Given the description of an element on the screen output the (x, y) to click on. 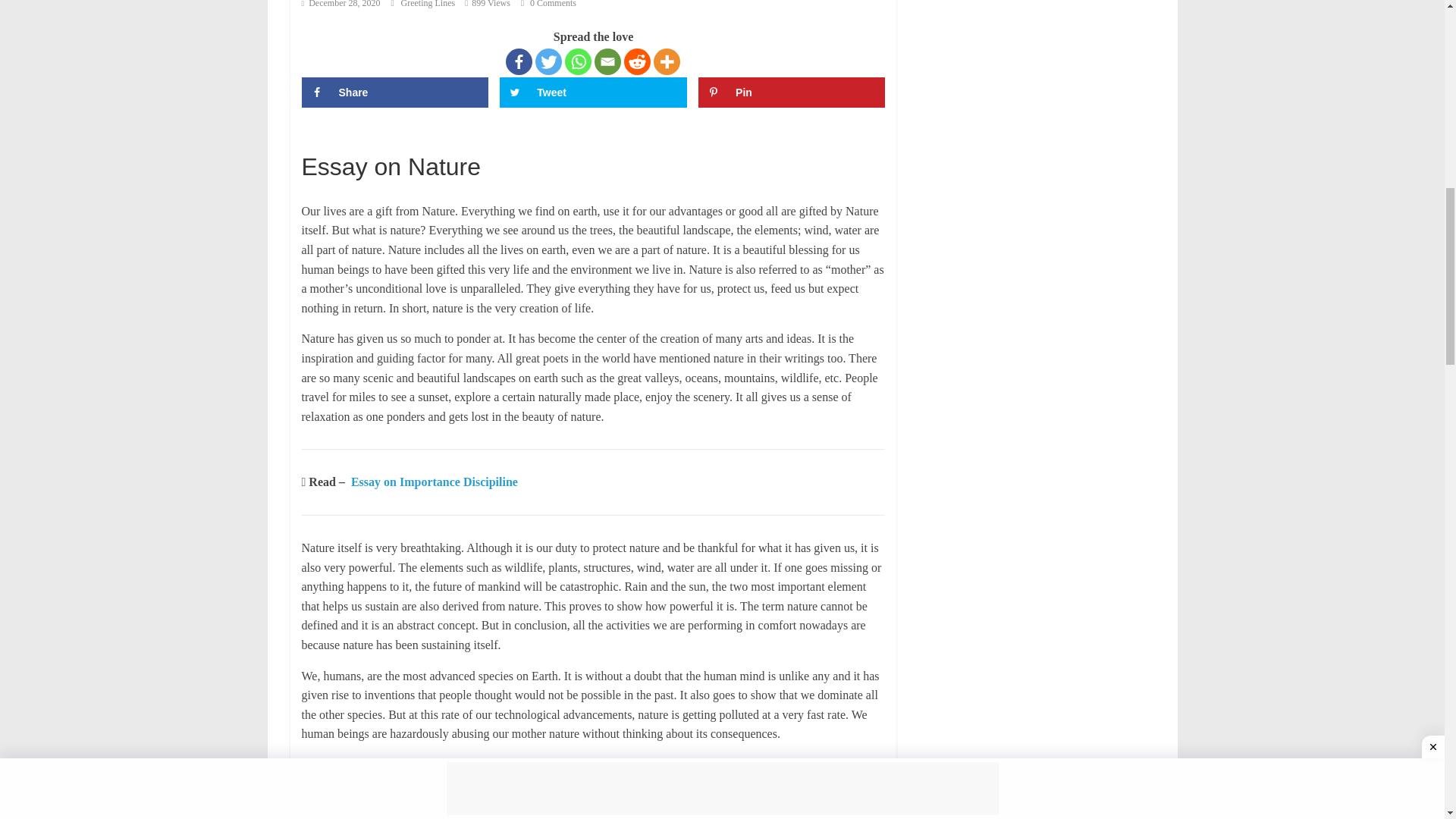
Essay (19, 162)
December 28, 2020December 29, 2020 (100, 226)
Reddit (759, 261)
12:18 pm (100, 226)
Greeting Lines (237, 226)
Email (732, 261)
Greeting Lines (237, 226)
Whatsapp (706, 261)
More (788, 261)
0 Comments (360, 226)
